Given the description of an element on the screen output the (x, y) to click on. 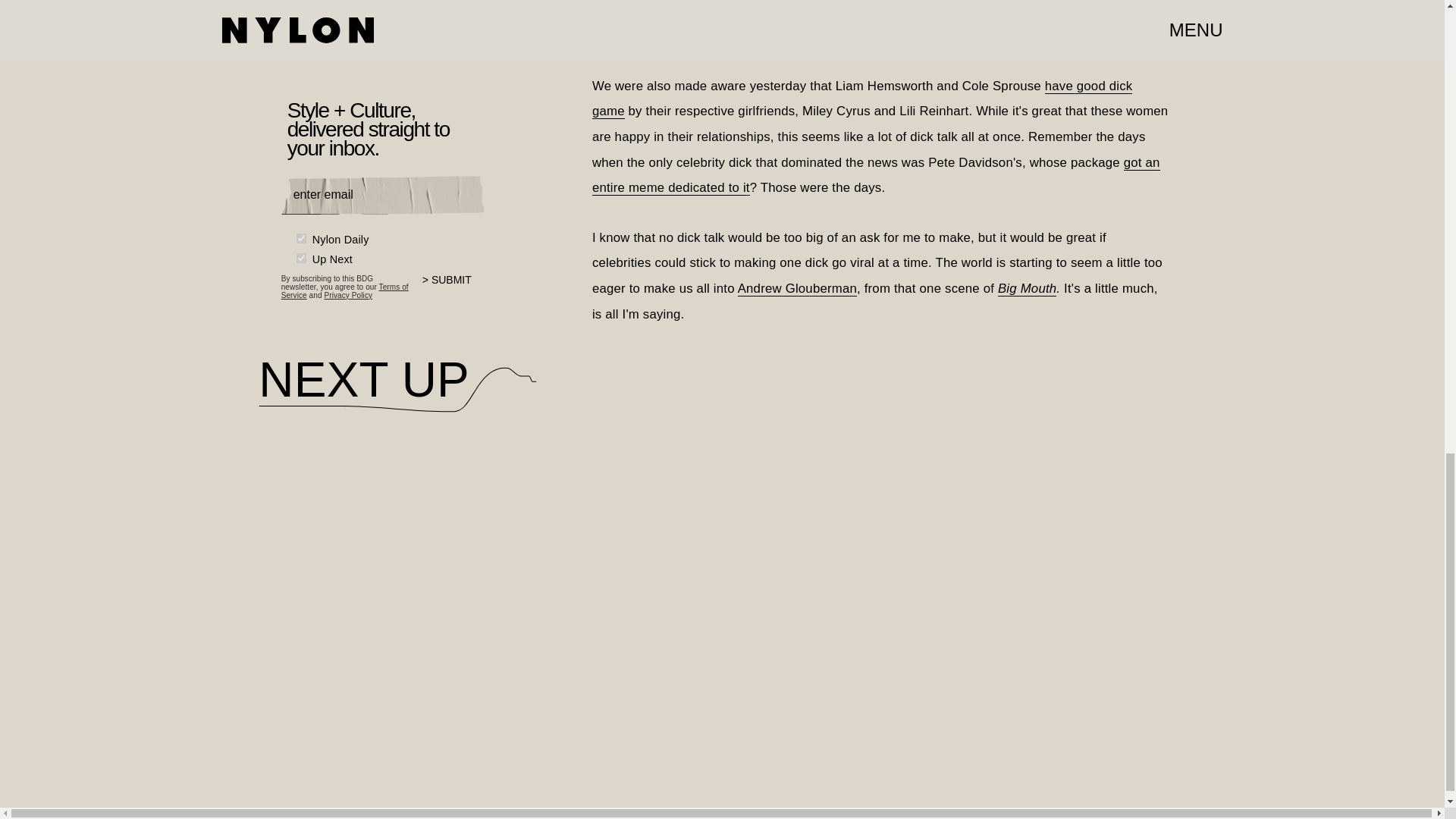
have good dick game (862, 98)
got an entire meme dedicated to it (876, 175)
Big Mouth (1027, 288)
SUBMIT (453, 289)
Andrew Glouberman (797, 288)
Privacy Policy (347, 295)
Terms of Service (345, 290)
